Given the description of an element on the screen output the (x, y) to click on. 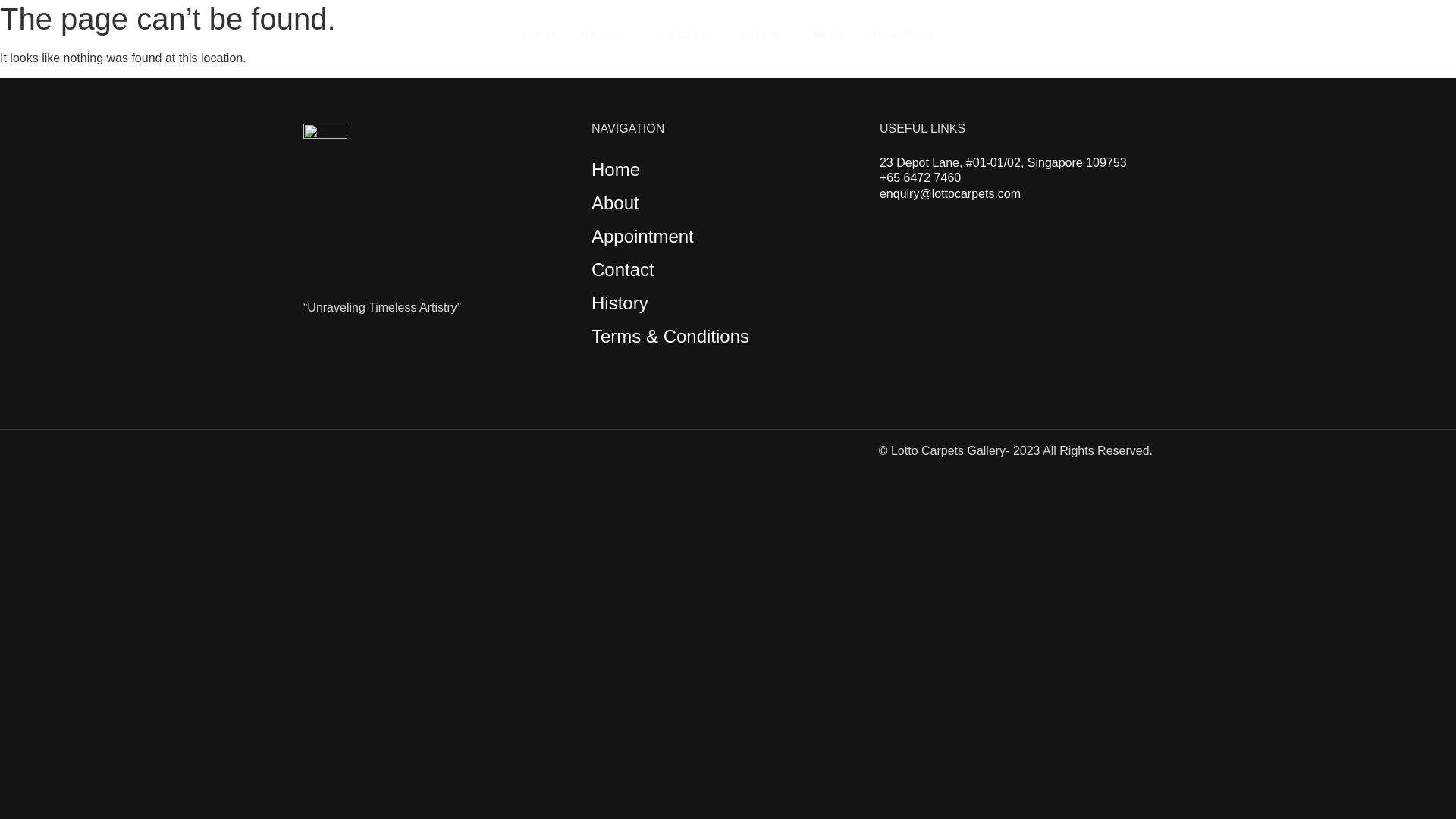
About us (604, 34)
Contact us (685, 34)
Appointment (642, 236)
Home (538, 34)
About (615, 202)
Contact (622, 269)
Clients (823, 34)
Appointment (898, 34)
Services (759, 34)
Home (615, 168)
History (619, 302)
